Given the description of an element on the screen output the (x, y) to click on. 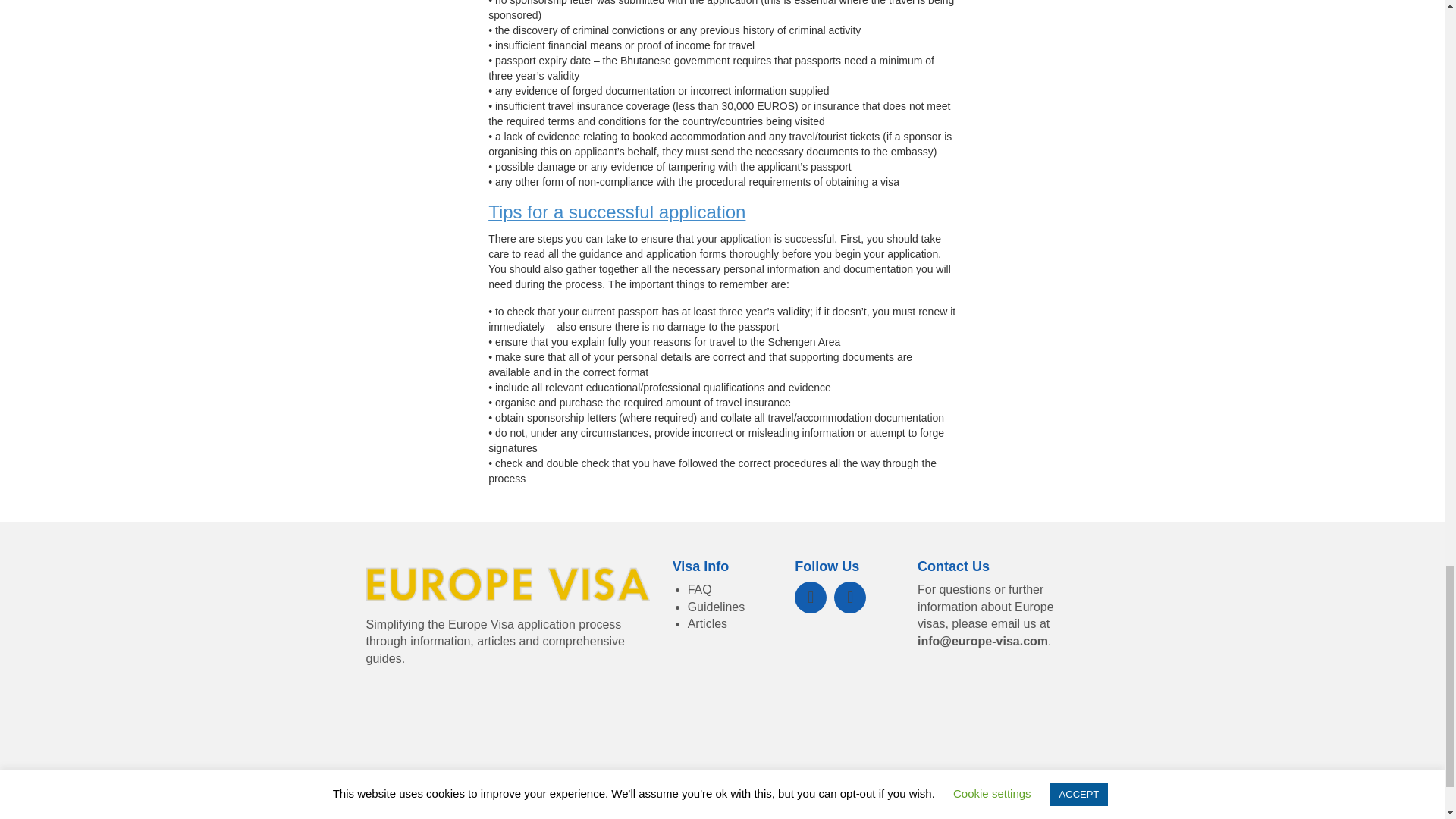
Articles (706, 623)
FAQ (699, 589)
Tips for a successful application (616, 211)
Guidelines (716, 606)
